Given the description of an element on the screen output the (x, y) to click on. 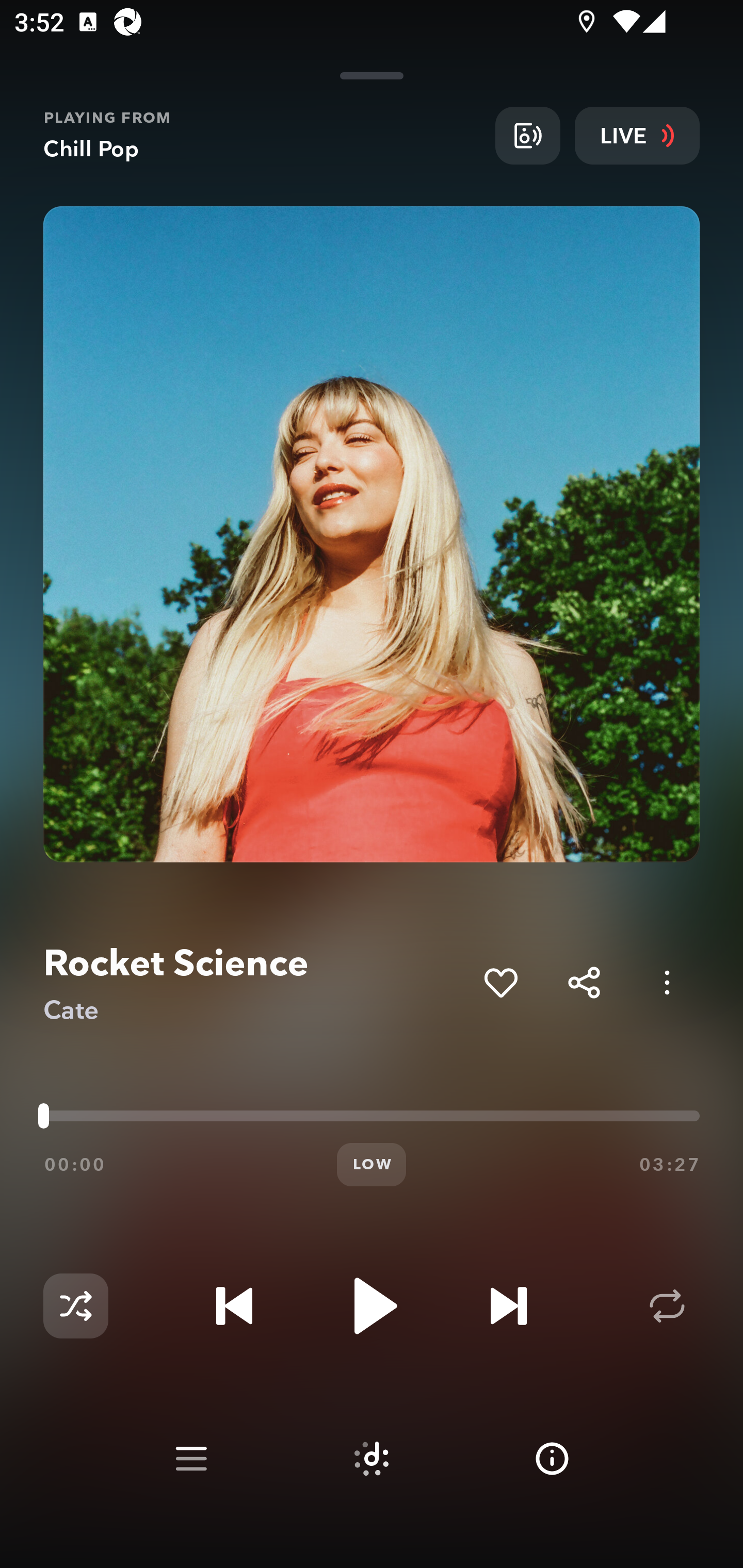
Broadcast (527, 135)
LIVE (637, 135)
PLAYING FROM Chill Pop (261, 135)
Rocket Science Cate (255, 983)
Add to My Collection (500, 982)
Share (583, 982)
Options (666, 982)
LOW (371, 1164)
Play (371, 1306)
Previous (234, 1306)
Next (508, 1306)
Shuffle enabled (75, 1306)
Repeat Off (666, 1306)
Play queue (191, 1458)
Suggested tracks (371, 1458)
Info (551, 1458)
